Given the description of an element on the screen output the (x, y) to click on. 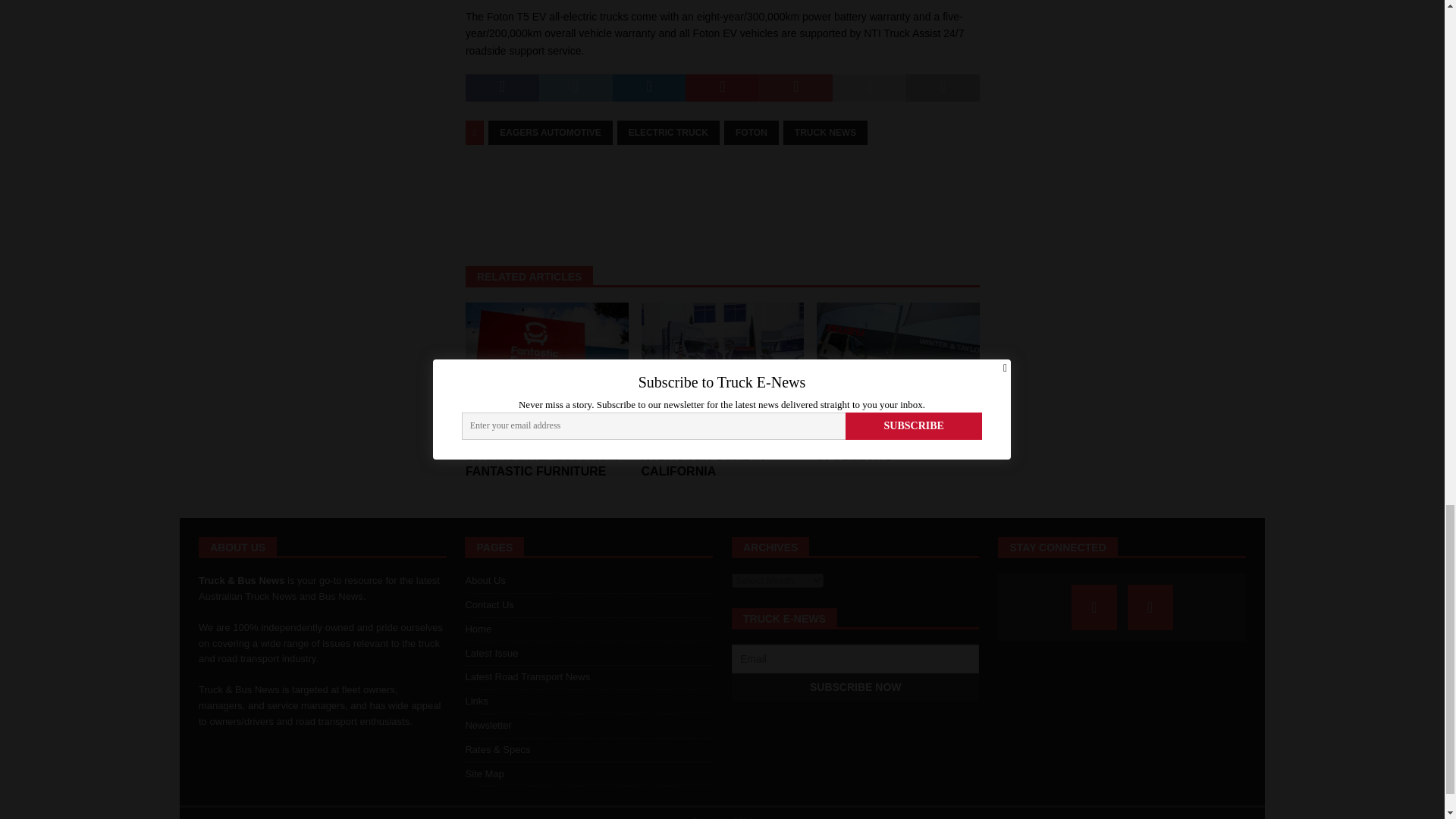
JAC ELECTRIC TRUCK SPARKS INTEREST FROM FANTASTIC FURNITURE (546, 363)
NEW ISUZU DEALERSHIP IN GEELONG (891, 448)
HYZON KICKS A HYDROGEN GOAL IN CALIFORNIA (703, 456)
NEW ISUZU DEALERSHIP IN GEELONG (897, 363)
FOTON (750, 132)
ELECTRIC TRUCK (668, 132)
HYZON KICKS A HYDROGEN GOAL IN CALIFORNIA (723, 363)
Subscribe Now (855, 687)
JAC ELECTRIC TRUCK SPARKS INTEREST FROM FANTASTIC FURNITURE (541, 456)
EAGERS AUTOMOTIVE (549, 132)
